Given the description of an element on the screen output the (x, y) to click on. 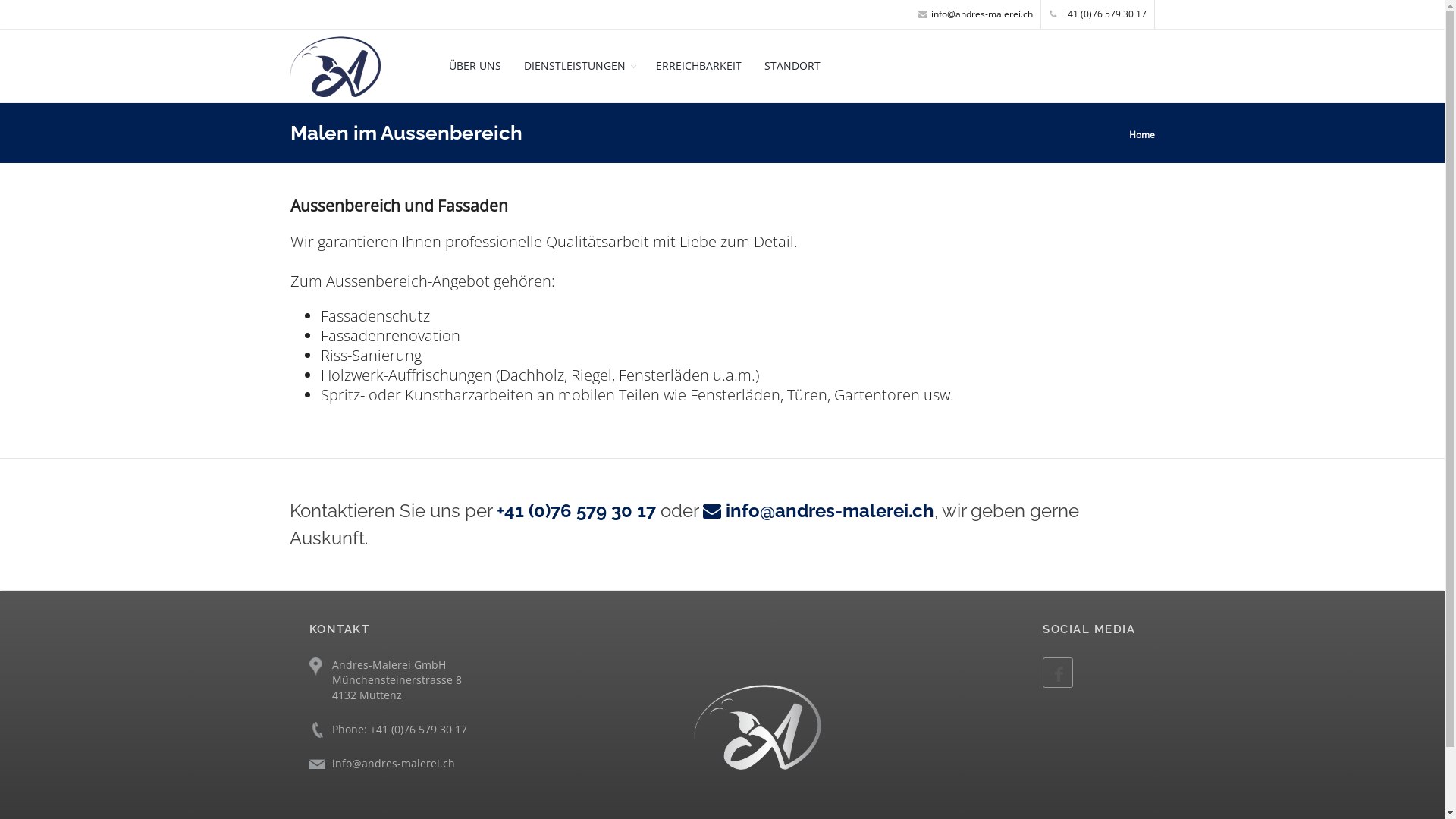
 +41 (0)76 579 30 17 Element type: text (1097, 14)
Facebook Element type: hover (1057, 672)
STANDORT Element type: text (791, 65)
Home Element type: hover (757, 734)
Home Element type: text (1141, 133)
DIENSTLEISTUNGEN Element type: text (578, 65)
ERREICHBARKEIT Element type: text (698, 65)
info@andres-malerei.ch Element type: text (393, 763)
info@andres-malerei.ch Element type: text (974, 14)
 info@andres-malerei.ch Element type: text (818, 510)
